Given the description of an element on the screen output the (x, y) to click on. 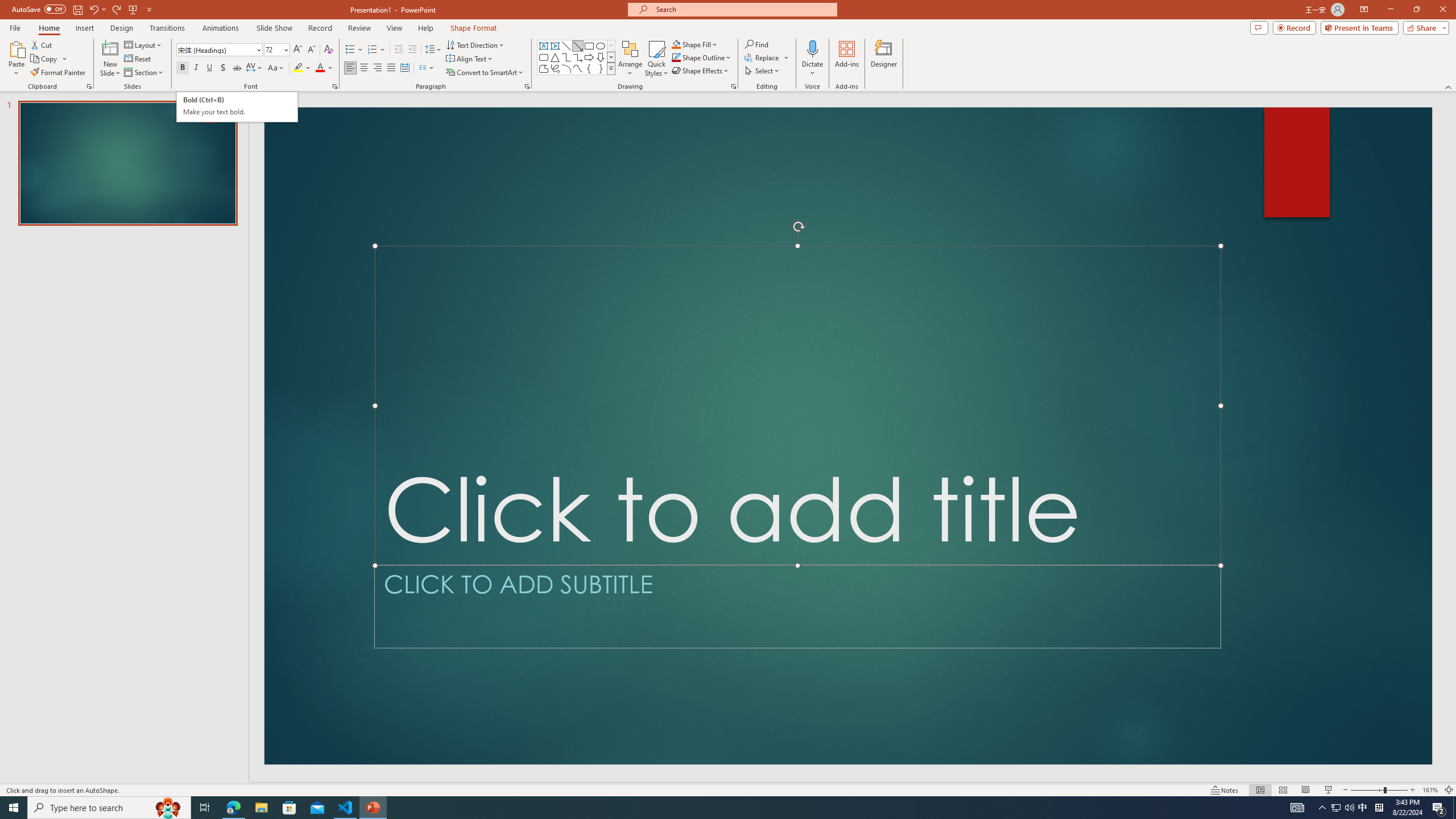
Text Highlight Color Yellow (297, 67)
Convert to SmartArt (485, 72)
Subtitle TextBox (797, 606)
